Given the description of an element on the screen output the (x, y) to click on. 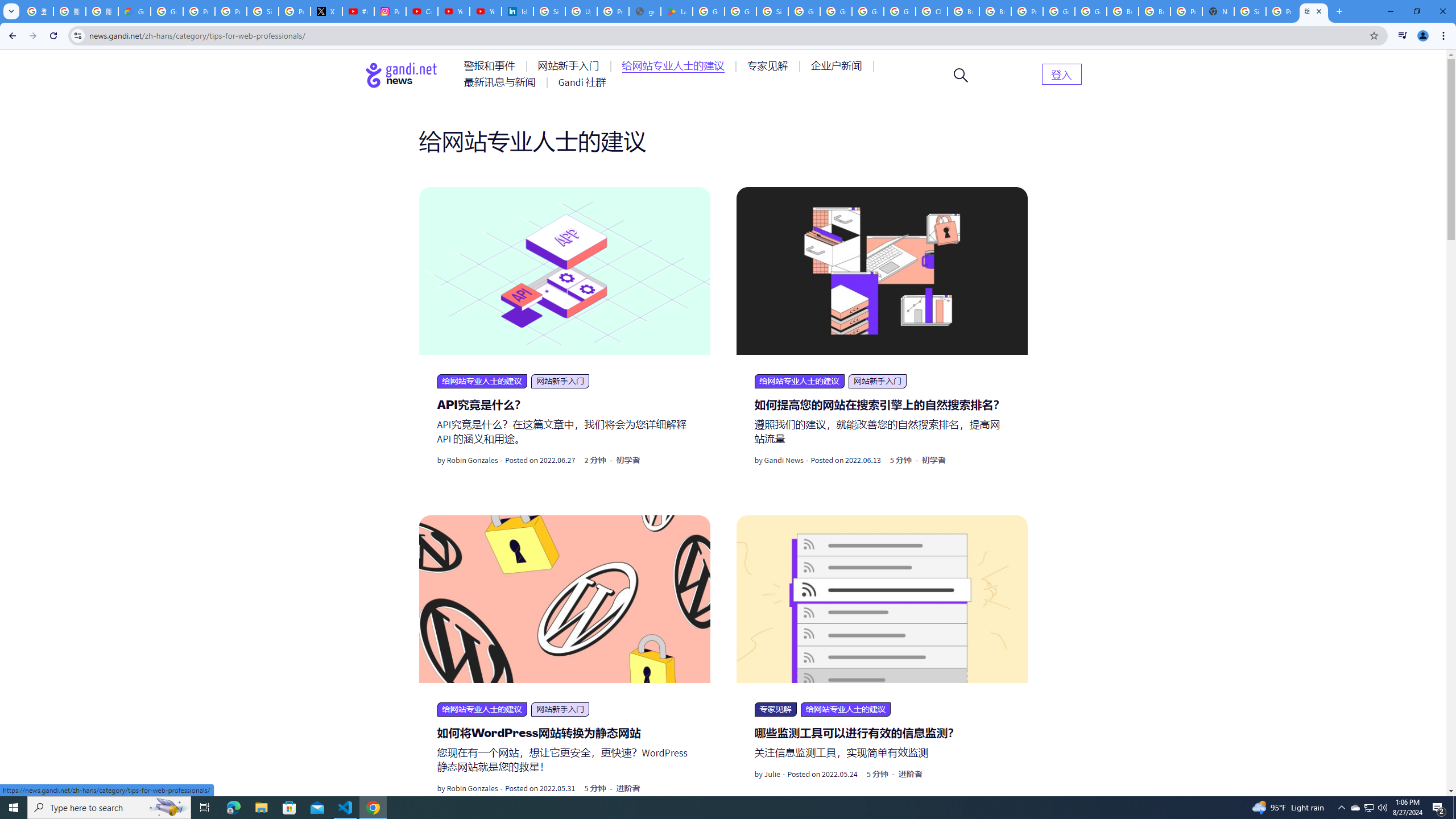
Google Cloud Platform (1091, 11)
